Given the description of an element on the screen output the (x, y) to click on. 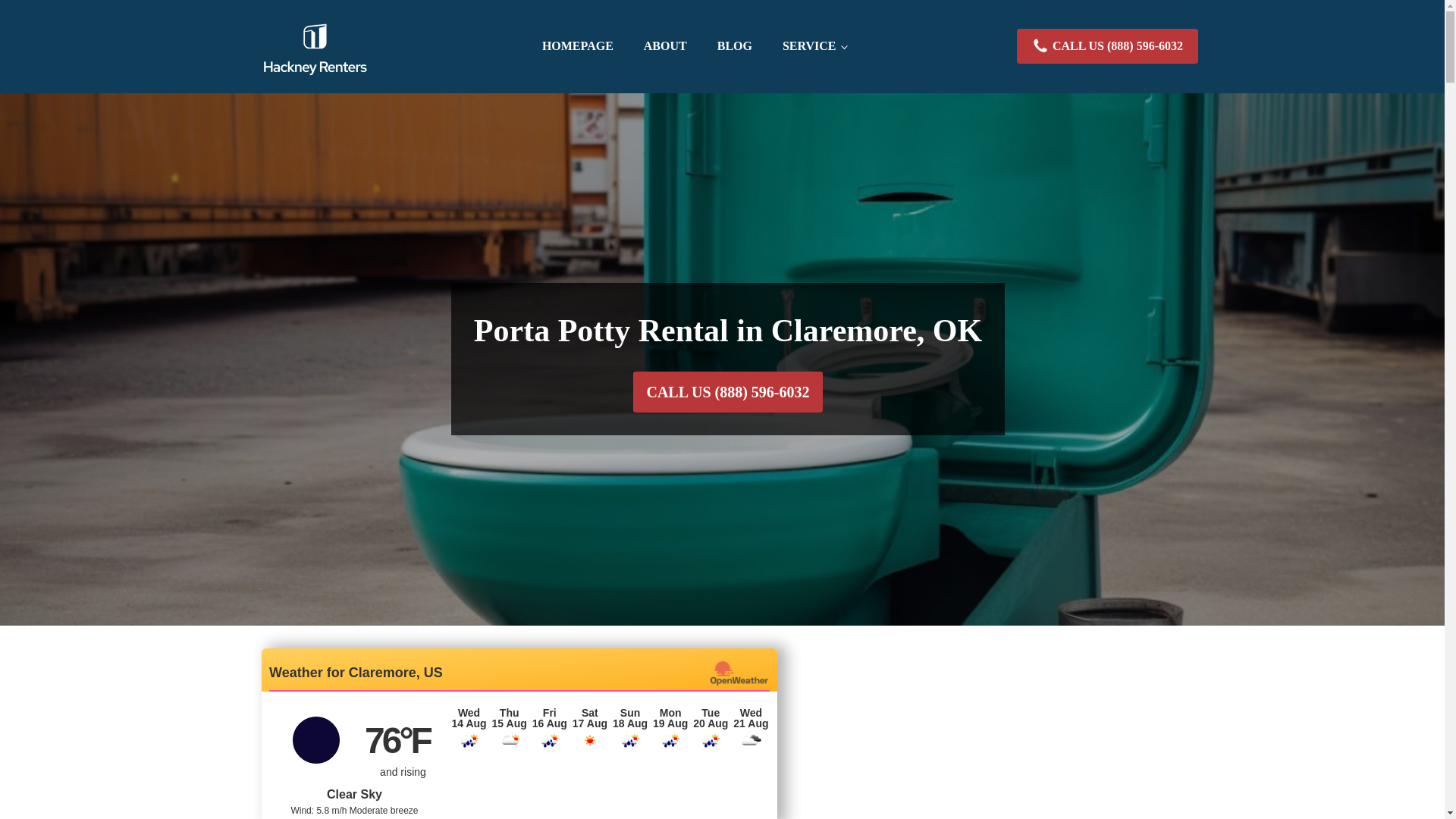
SERVICE (814, 46)
BLOG (734, 46)
HOMEPAGE (577, 46)
ABOUT (664, 46)
